Given the description of an element on the screen output the (x, y) to click on. 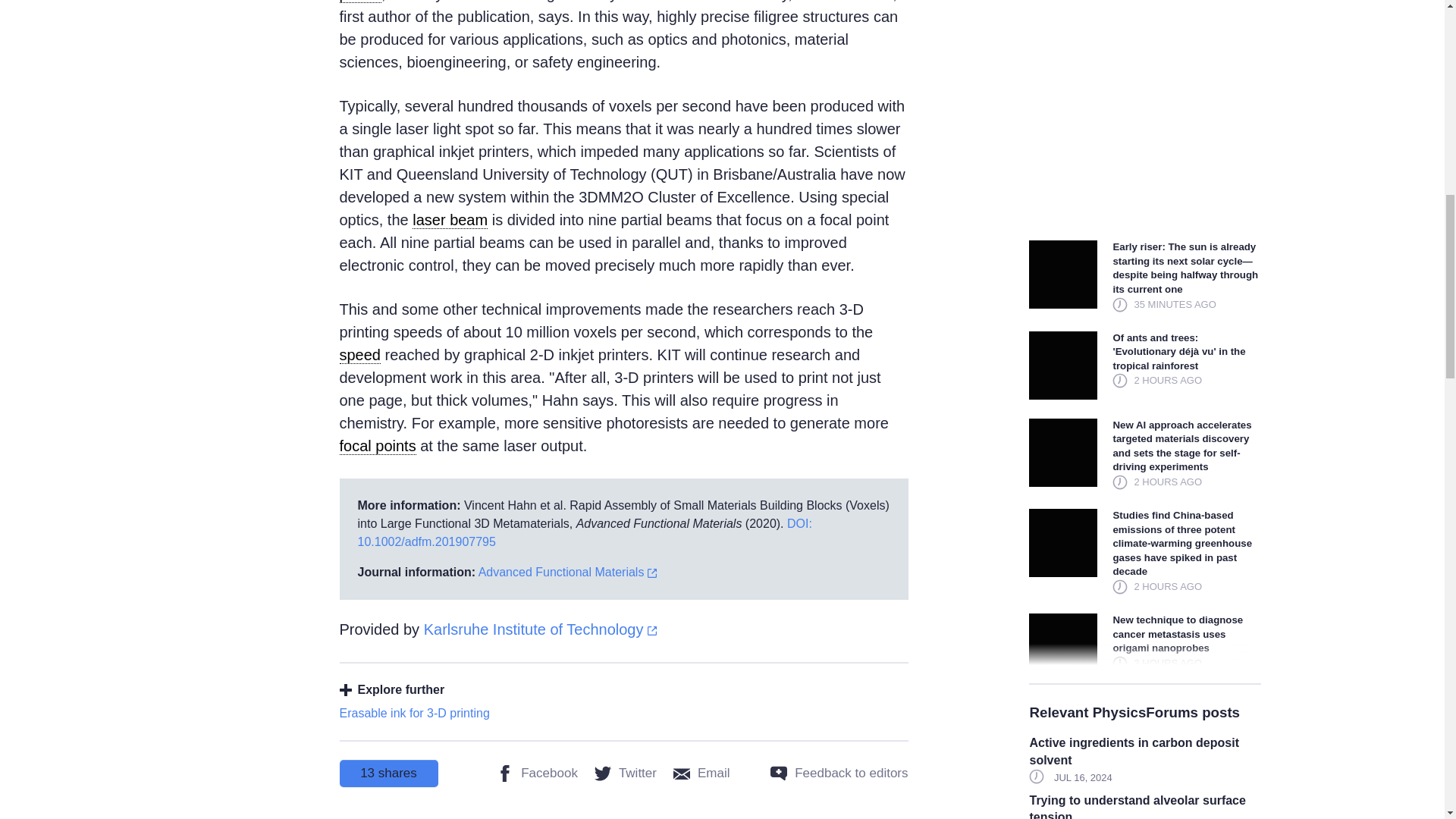
printer (360, 1)
3rd party ad content (1145, 110)
speed (360, 354)
laser beam (449, 220)
